Given the description of an element on the screen output the (x, y) to click on. 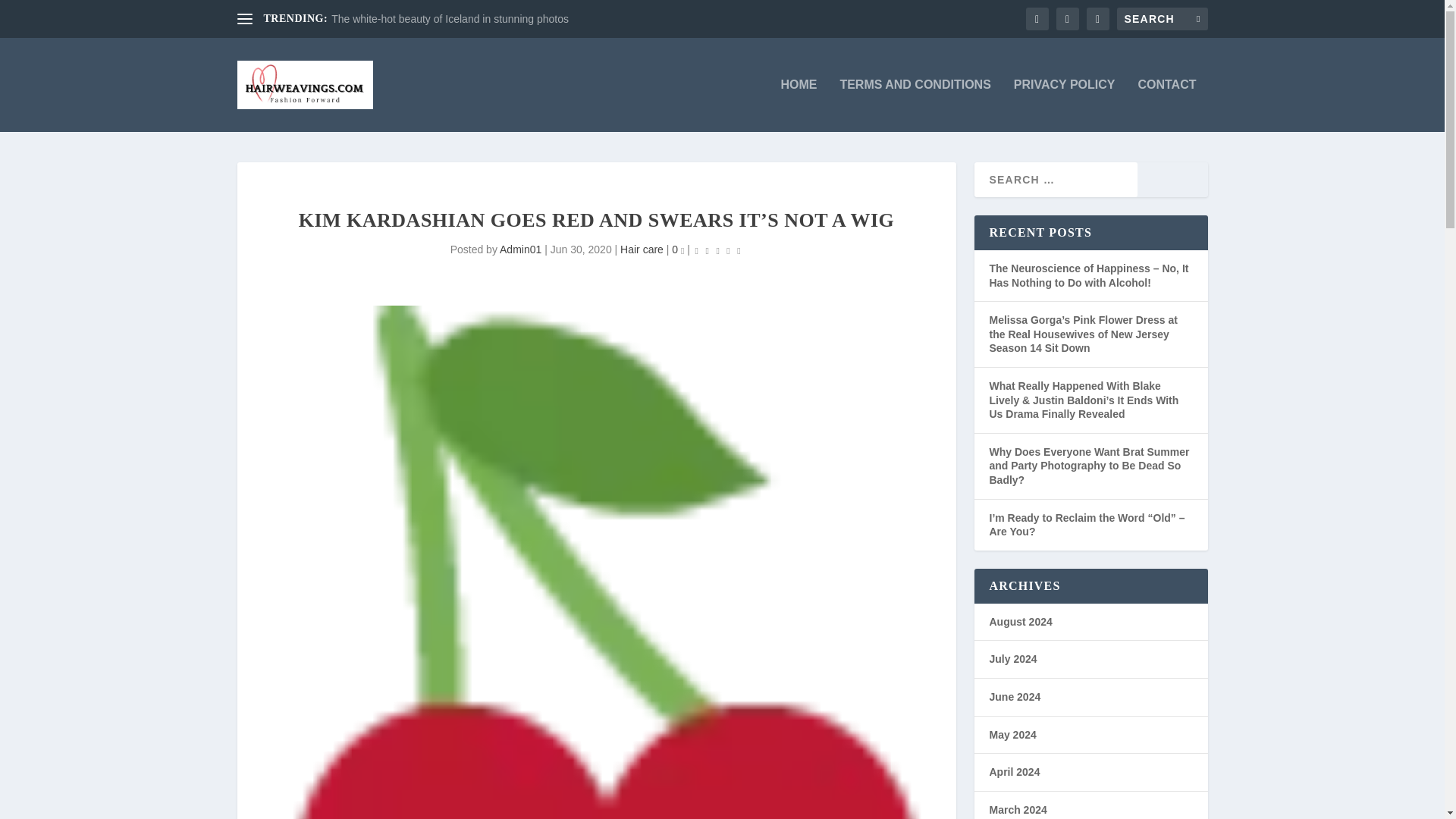
The white-hot beauty of Iceland in stunning photos (450, 19)
Rating: 0.00 (717, 250)
CONTACT (1166, 104)
Admin01 (520, 249)
TERMS AND CONDITIONS (915, 104)
Search for: (1161, 18)
0 (677, 249)
PRIVACY POLICY (1064, 104)
Posts by Admin01 (520, 249)
Hair care (641, 249)
